Given the description of an element on the screen output the (x, y) to click on. 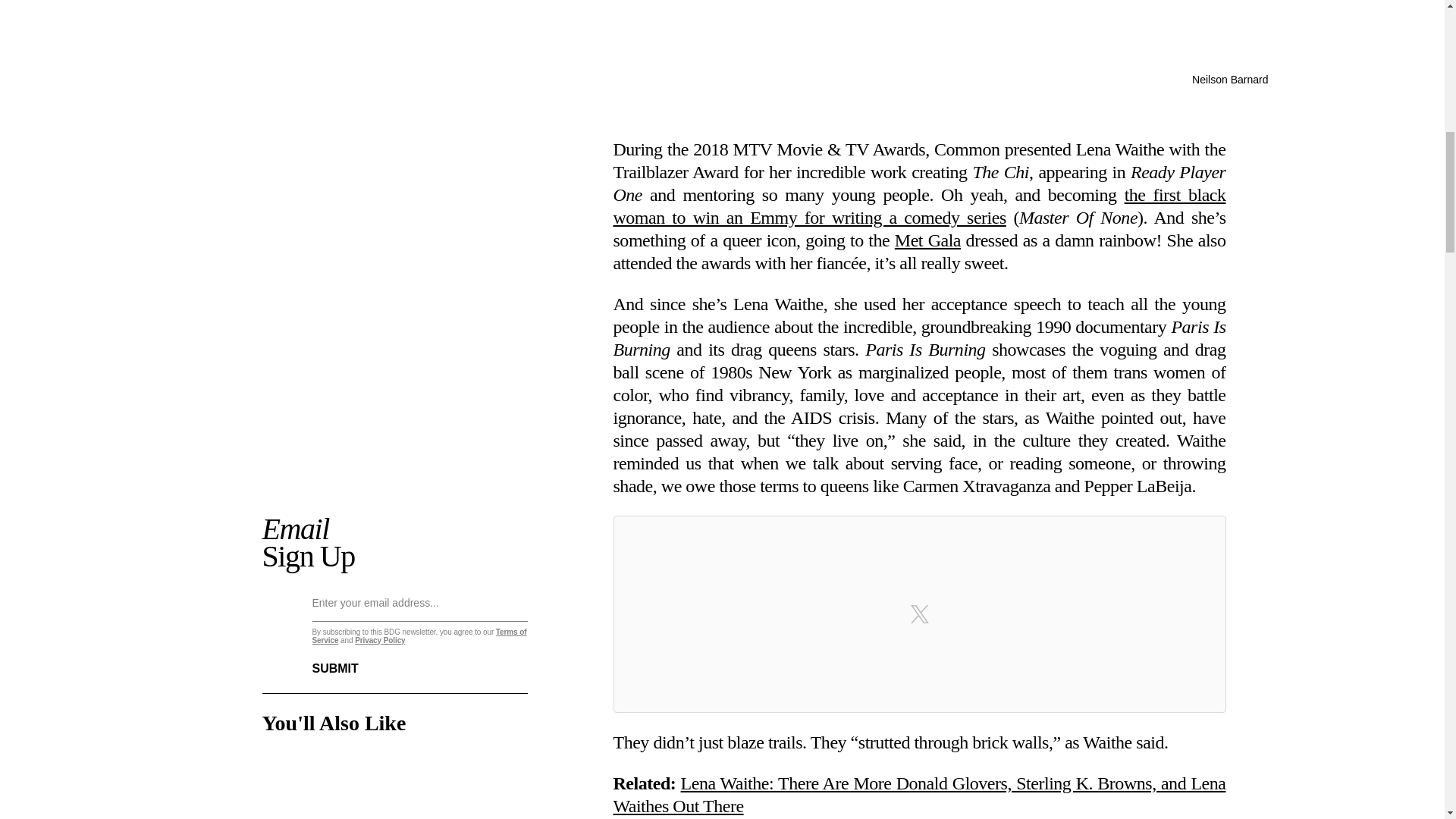
Met Gala (927, 240)
Privacy Policy (379, 640)
SUBMIT (347, 659)
Terms of Service (420, 636)
